Given the description of an element on the screen output the (x, y) to click on. 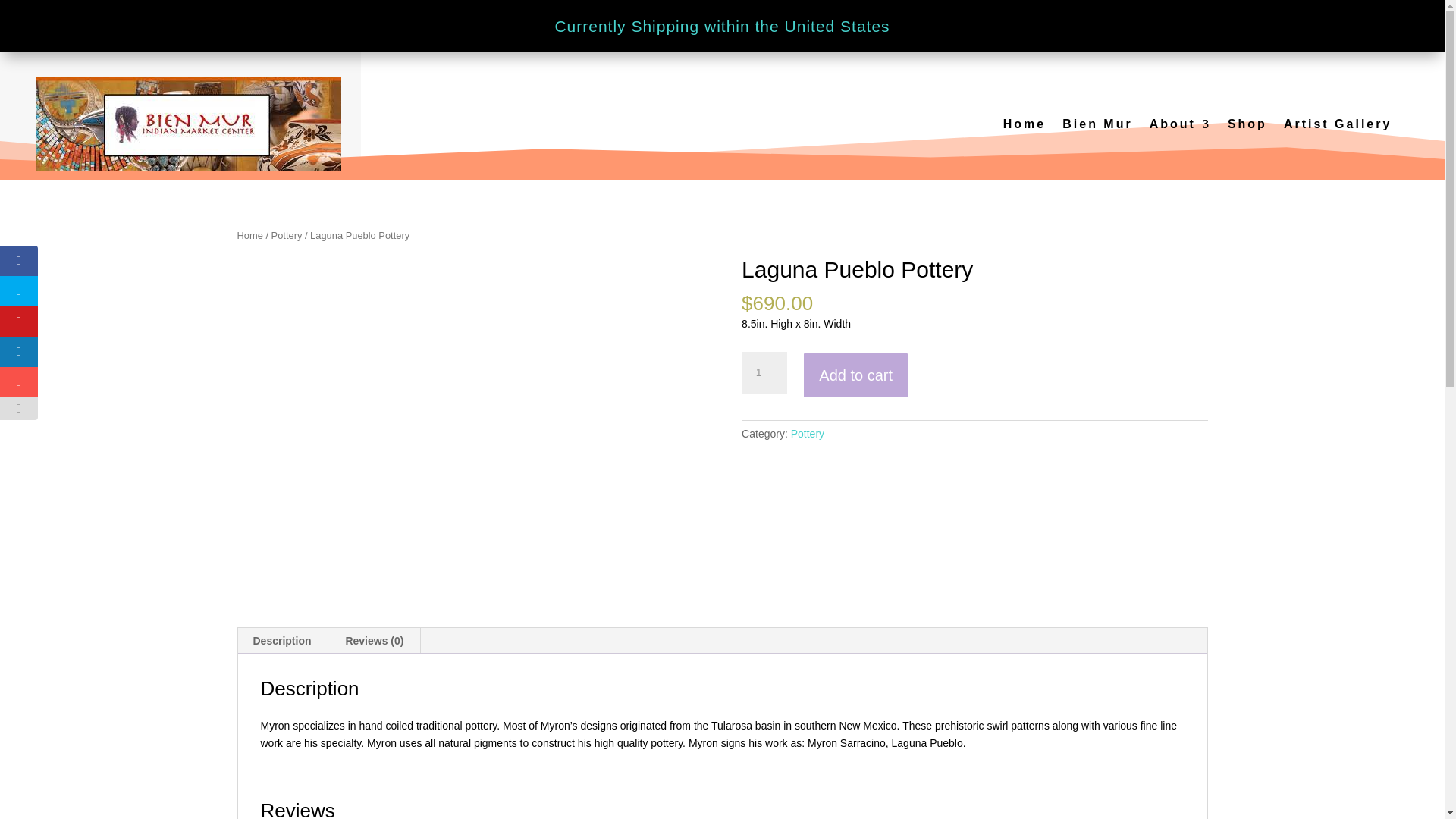
Add to cart (855, 375)
1 (764, 372)
Description (282, 640)
Home (248, 235)
Pottery (807, 433)
Artist Gallery (1337, 123)
Pottery (286, 235)
